Given the description of an element on the screen output the (x, y) to click on. 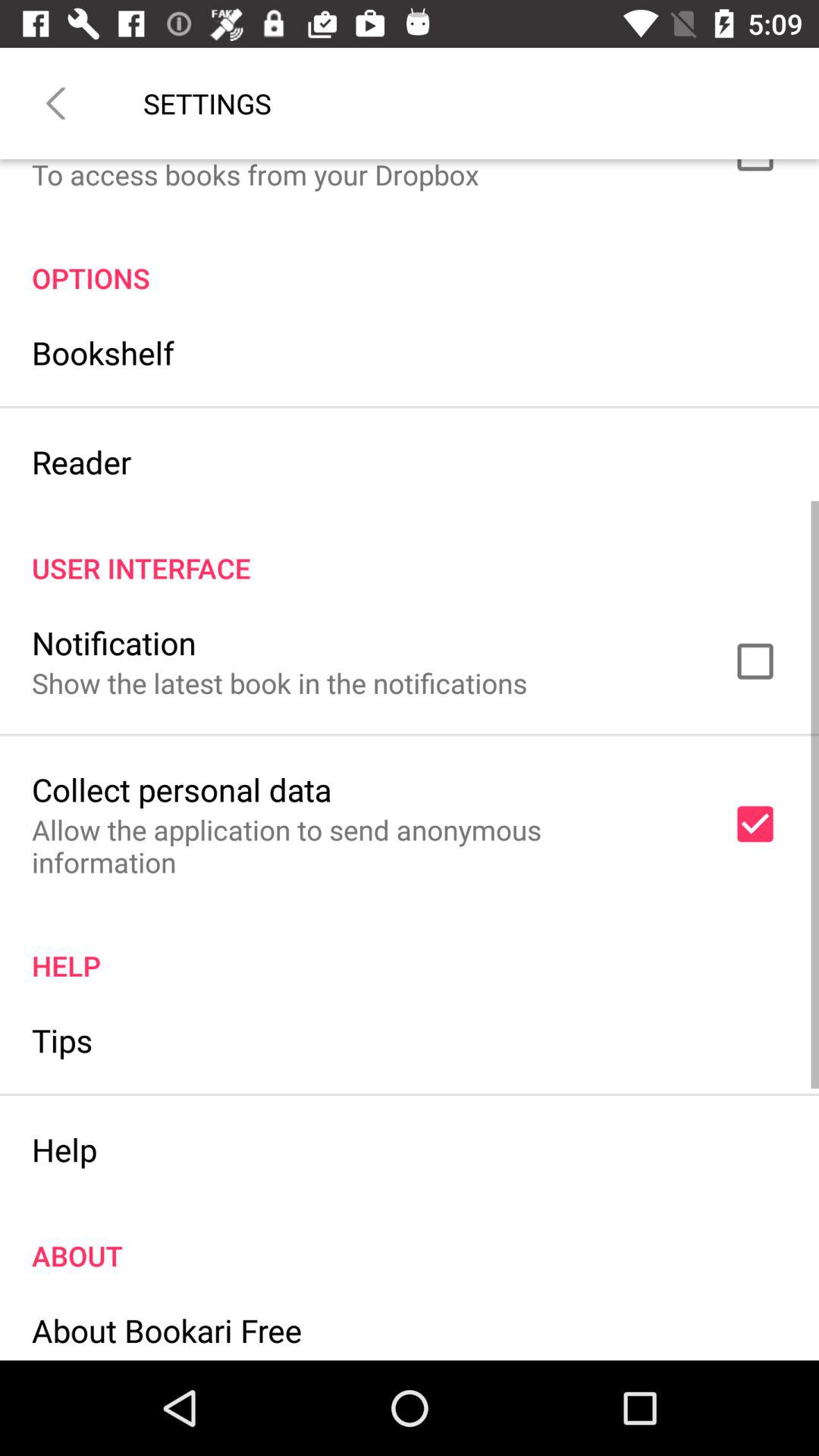
tap item above the notification (409, 551)
